Given the description of an element on the screen output the (x, y) to click on. 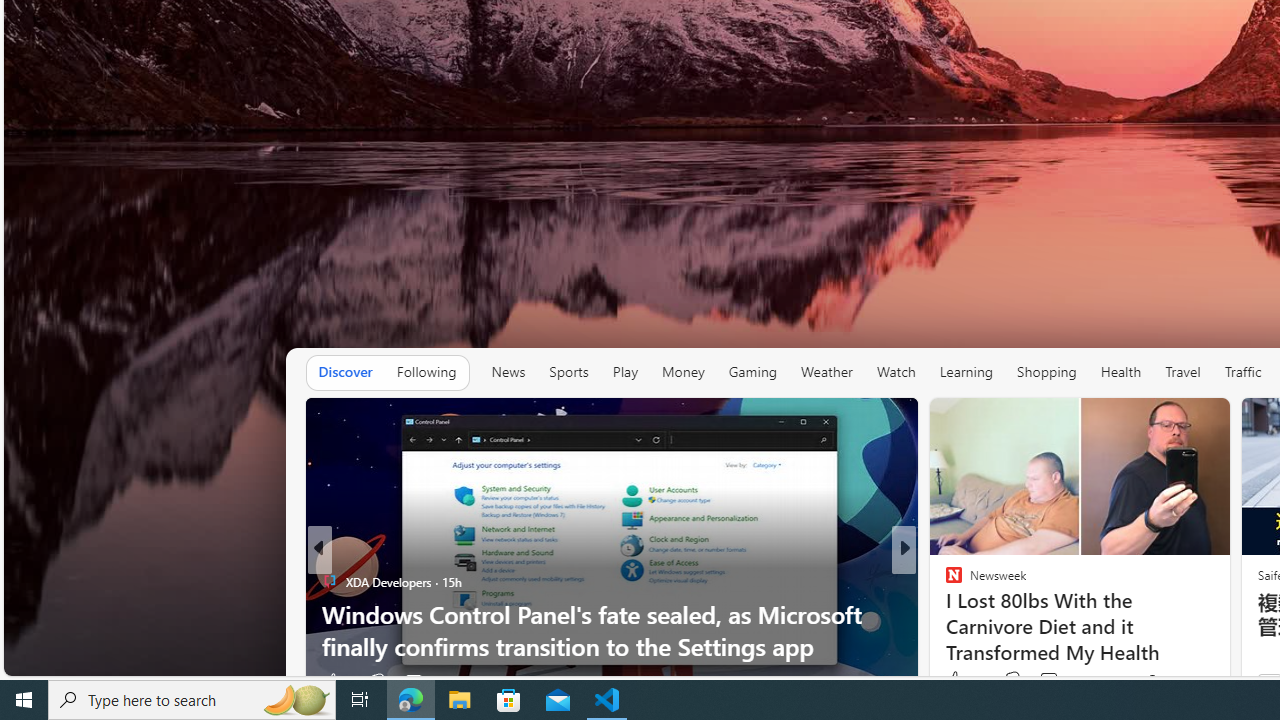
6 Like (952, 681)
View comments 30 Comment (1051, 681)
View comments 19 Comment (1051, 681)
104 Like (959, 681)
Tastes Delicious (944, 581)
57 Like (956, 681)
BuzzFeed (944, 581)
View comments 11 Comment (1042, 681)
View comments 13 Comment (1051, 681)
XDA Developers (944, 614)
186 Like (959, 681)
